Given the description of an element on the screen output the (x, y) to click on. 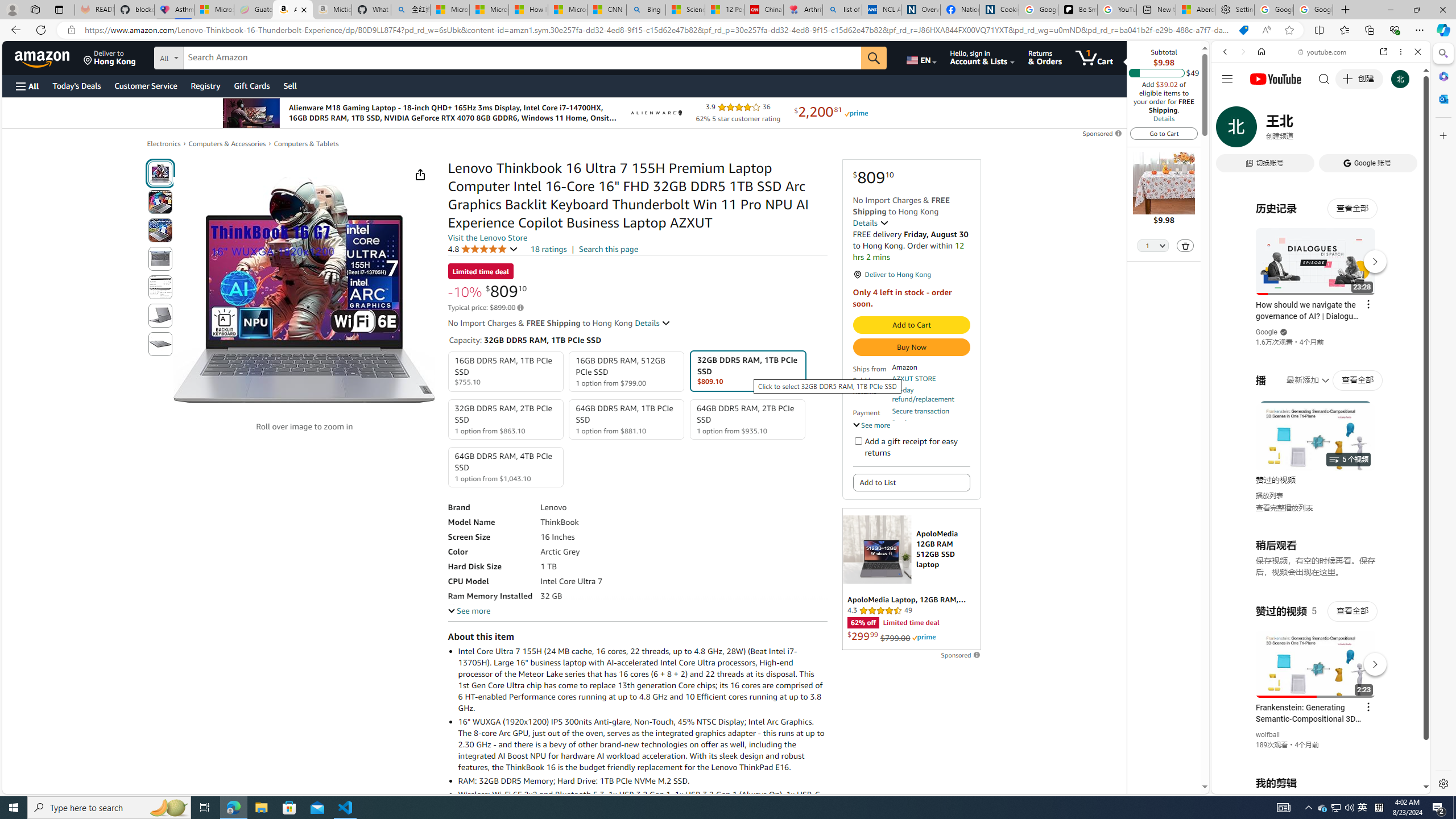
Computers & Accessories (226, 143)
Electronics (163, 144)
Details (1163, 118)
Electronics (163, 143)
Asthma Inhalers: Names and Types (174, 9)
Music (1320, 309)
18 ratings (547, 248)
Hello, sign in Account & Lists (982, 57)
